Given the description of an element on the screen output the (x, y) to click on. 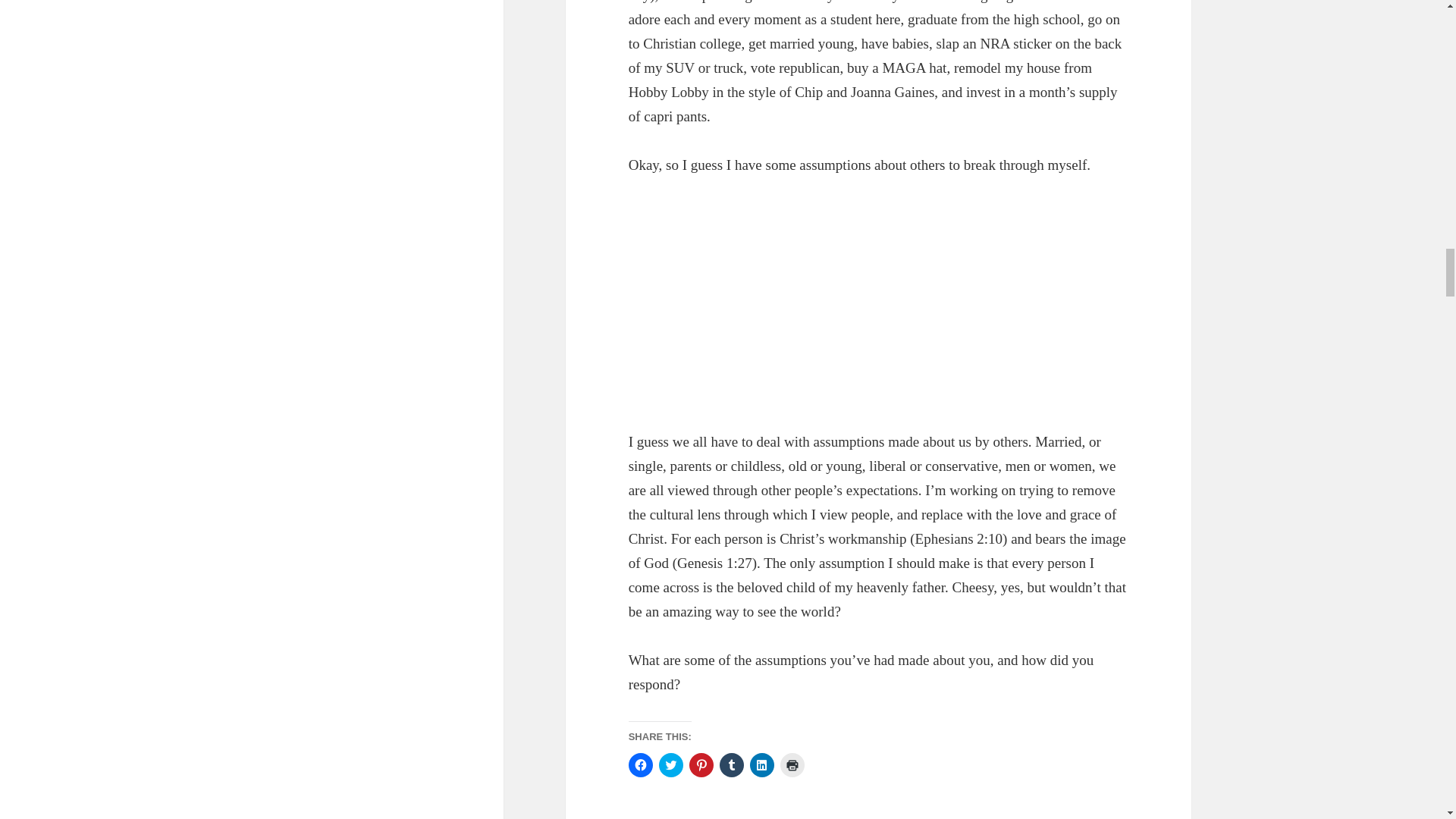
Click to share on LinkedIn (761, 764)
Click to share on Pinterest (700, 764)
Click to print (792, 764)
Click to share on Twitter (670, 764)
Click to share on Tumblr (731, 764)
Click to share on Facebook (640, 764)
